Given the description of an element on the screen output the (x, y) to click on. 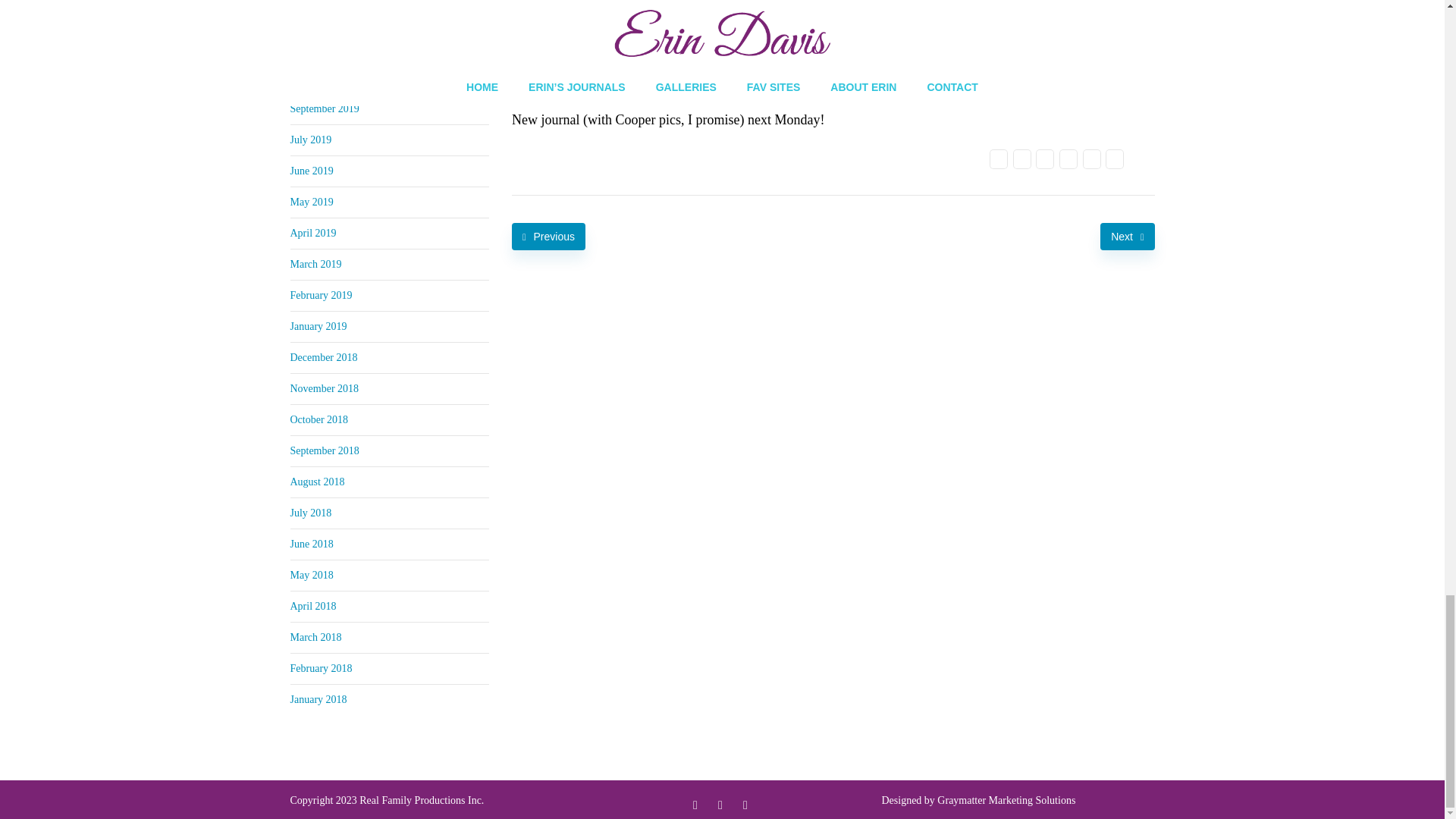
Next (1127, 236)
Gracefully and Frankly (606, 55)
Previous (548, 236)
Drift (778, 7)
